Given the description of an element on the screen output the (x, y) to click on. 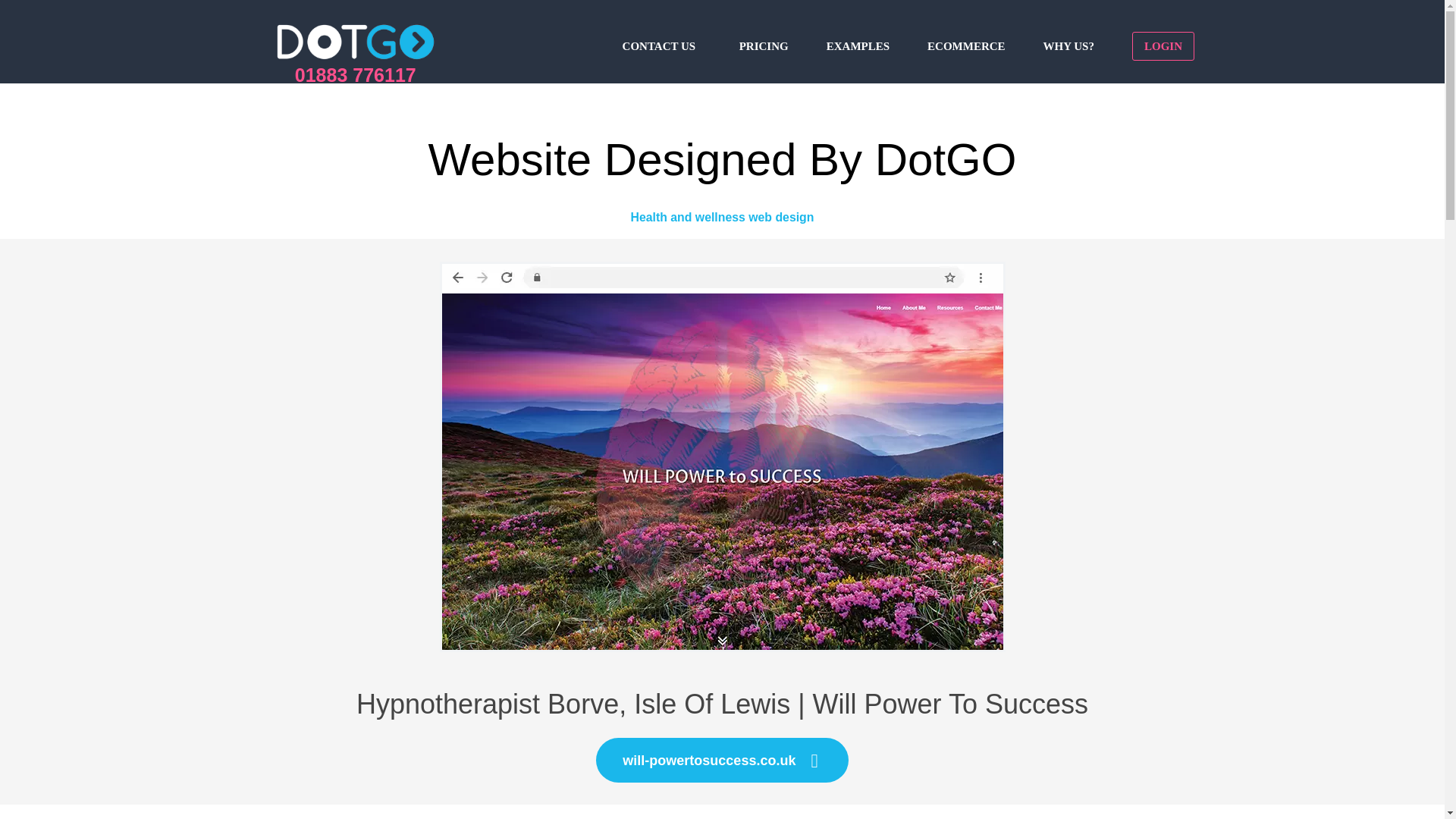
ECOMMERCE (966, 44)
WHY US? (1068, 44)
EXAMPLES (858, 44)
Health and wellness web design (721, 216)
CONTACT US   (662, 44)
PRICING (764, 44)
LOGIN (1162, 44)
will-powertosuccess.co.uk (721, 759)
